Given the description of an element on the screen output the (x, y) to click on. 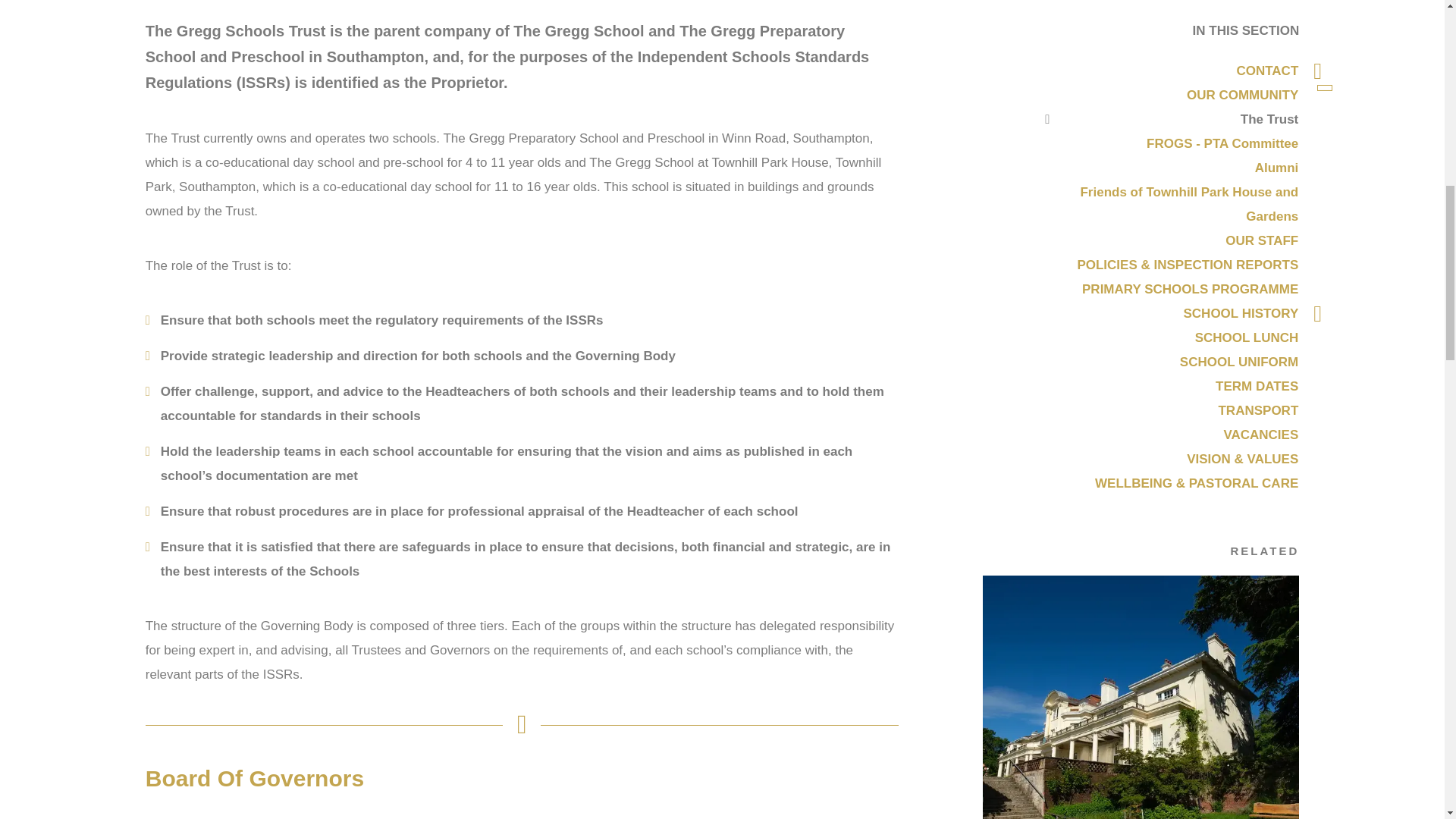
The Trust (1140, 697)
